Given the description of an element on the screen output the (x, y) to click on. 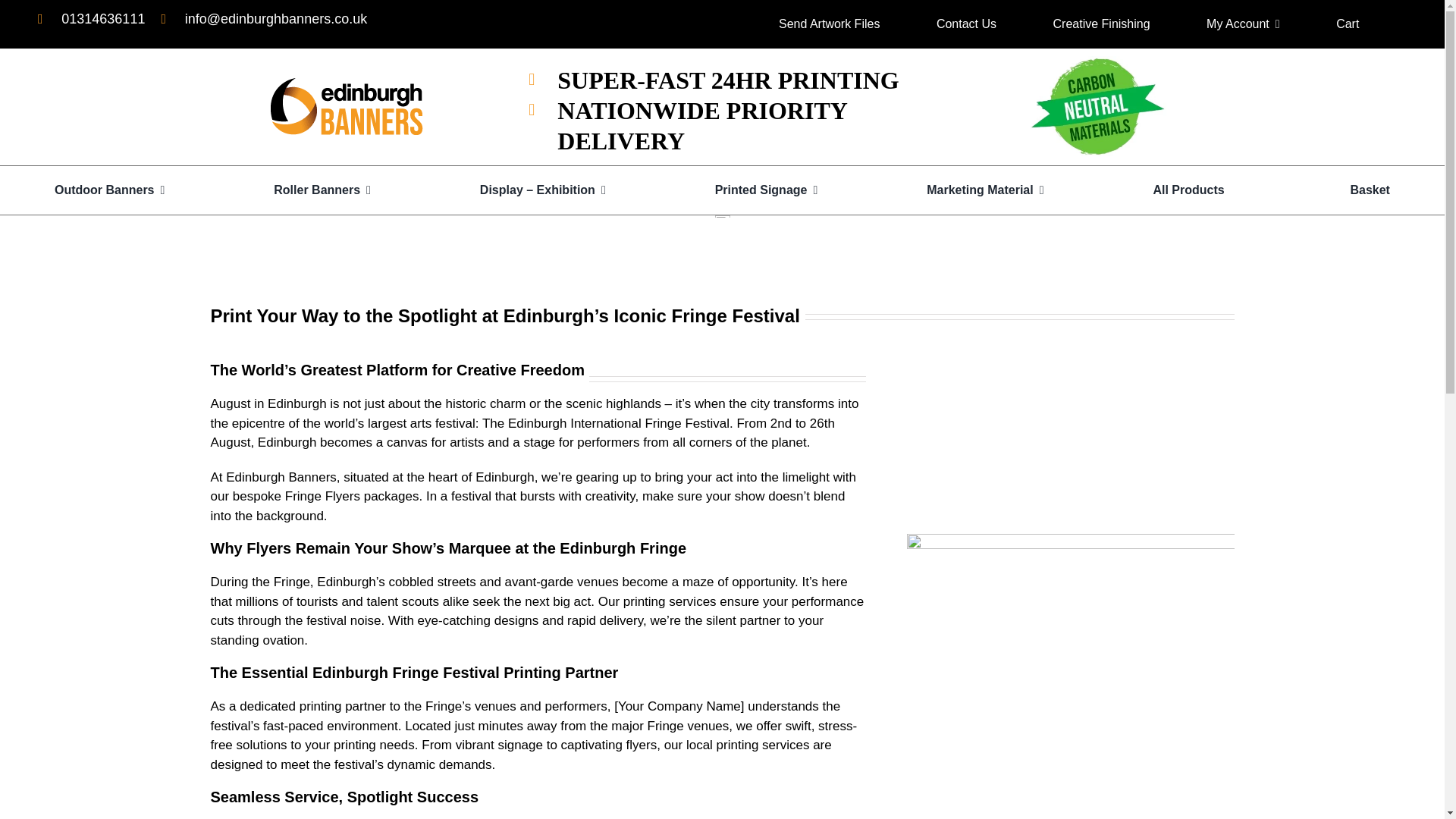
Outdoor Banners (109, 190)
Roller Banners (322, 190)
Cart (1347, 24)
Creative Finishing (1101, 24)
Log In (721, 458)
Contact Us (965, 24)
Send Artwork Files (828, 24)
My Account (1238, 24)
